Given the description of an element on the screen output the (x, y) to click on. 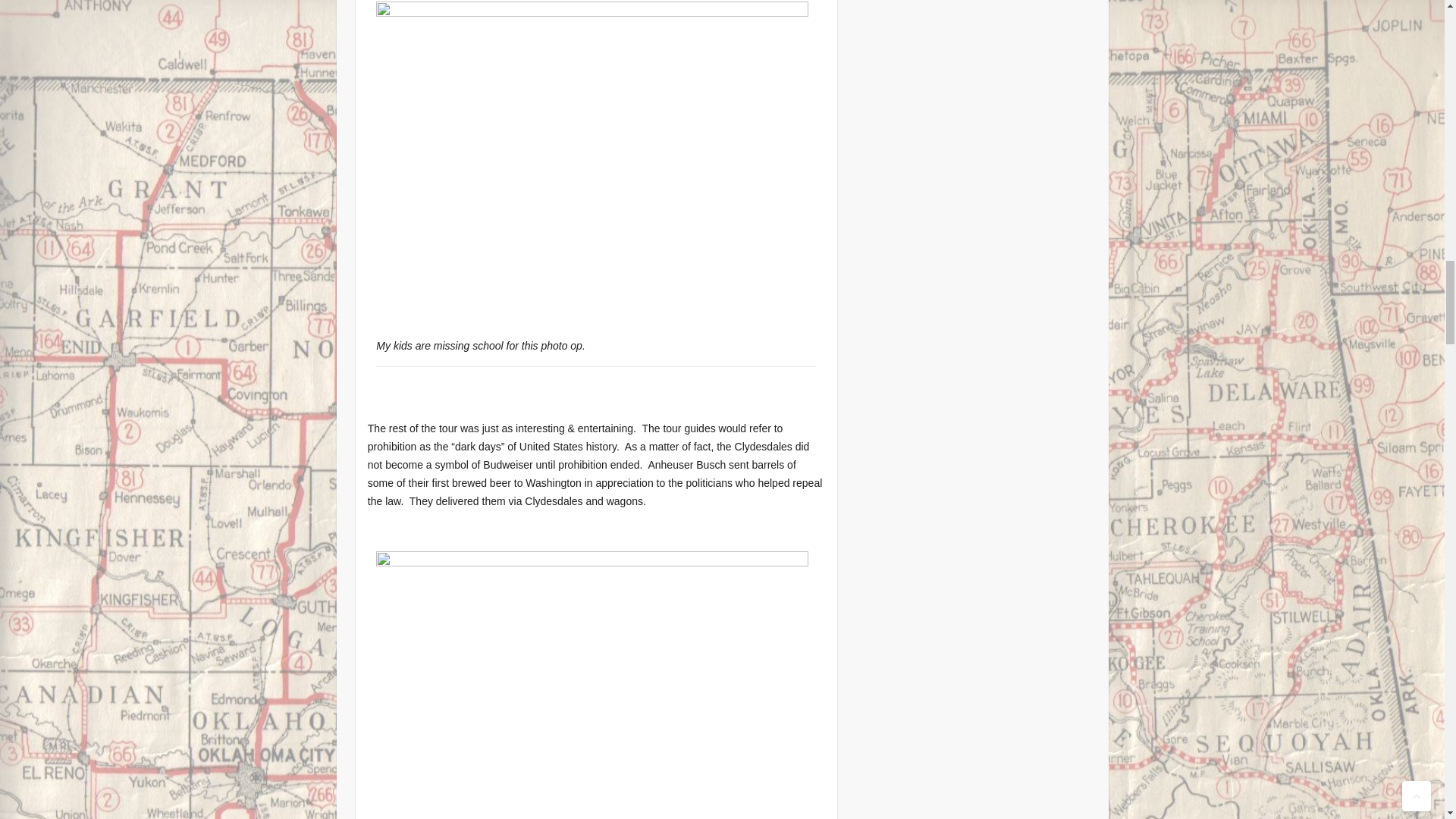
The bottling operation. (591, 685)
